Given the description of an element on the screen output the (x, y) to click on. 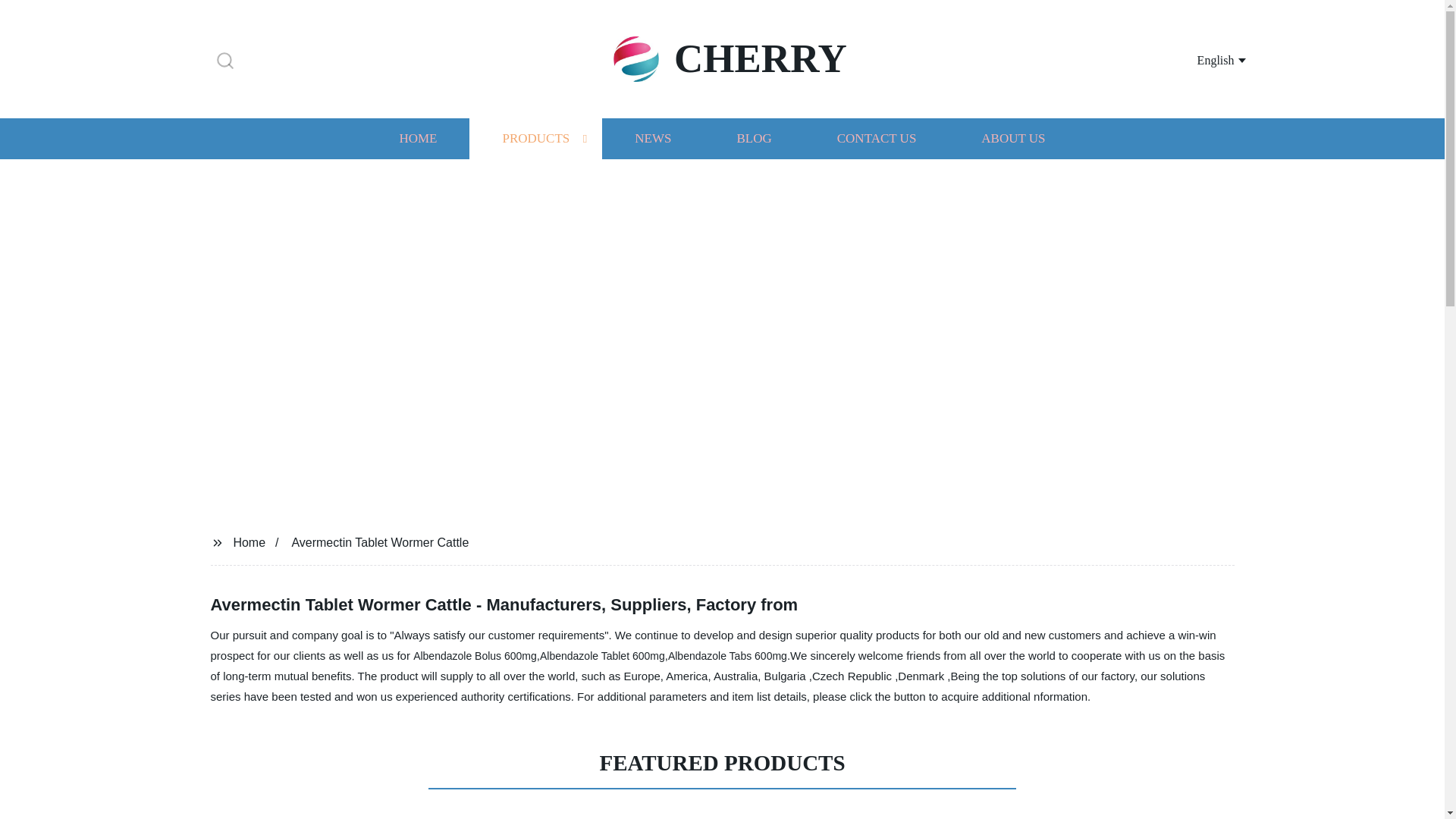
Avermectin Tablet Wormer Cattle (379, 541)
PRODUCTS (535, 137)
HOME (417, 137)
Albendazole Bolus 600mg (475, 654)
BLOG (753, 137)
Home (248, 541)
Albendazole Tabs 600mg (727, 654)
Albendazole Tablet 600mg (602, 654)
Albendazole Tablet 600mg (602, 654)
ABOUT US (1013, 137)
CONTACT US (877, 137)
NEWS (652, 137)
Albendazole Bolus 600mg (475, 654)
Albendazole Tabs 600mg (727, 654)
